Given the description of an element on the screen output the (x, y) to click on. 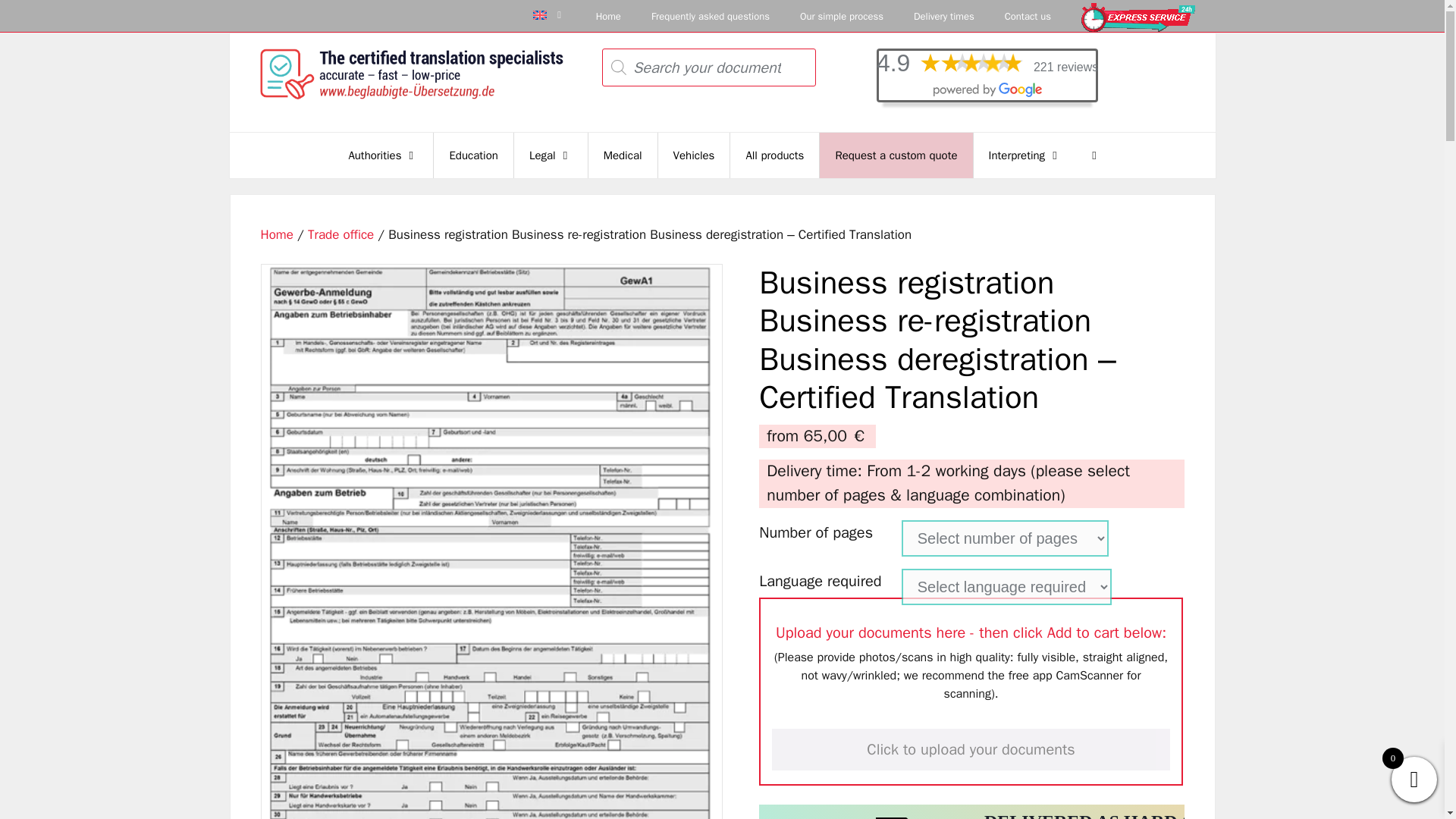
Medical (623, 155)
Home (608, 16)
Frequently asked questions (710, 16)
Legal (550, 155)
Request a custom quote (895, 155)
Contact us (1027, 16)
Education (473, 155)
Home (277, 234)
Authorities (383, 155)
Interpreting (1025, 155)
Delivery times (944, 16)
All products (774, 155)
Our simple process (841, 16)
Vehicles (694, 155)
Powered by Google (987, 89)
